Given the description of an element on the screen output the (x, y) to click on. 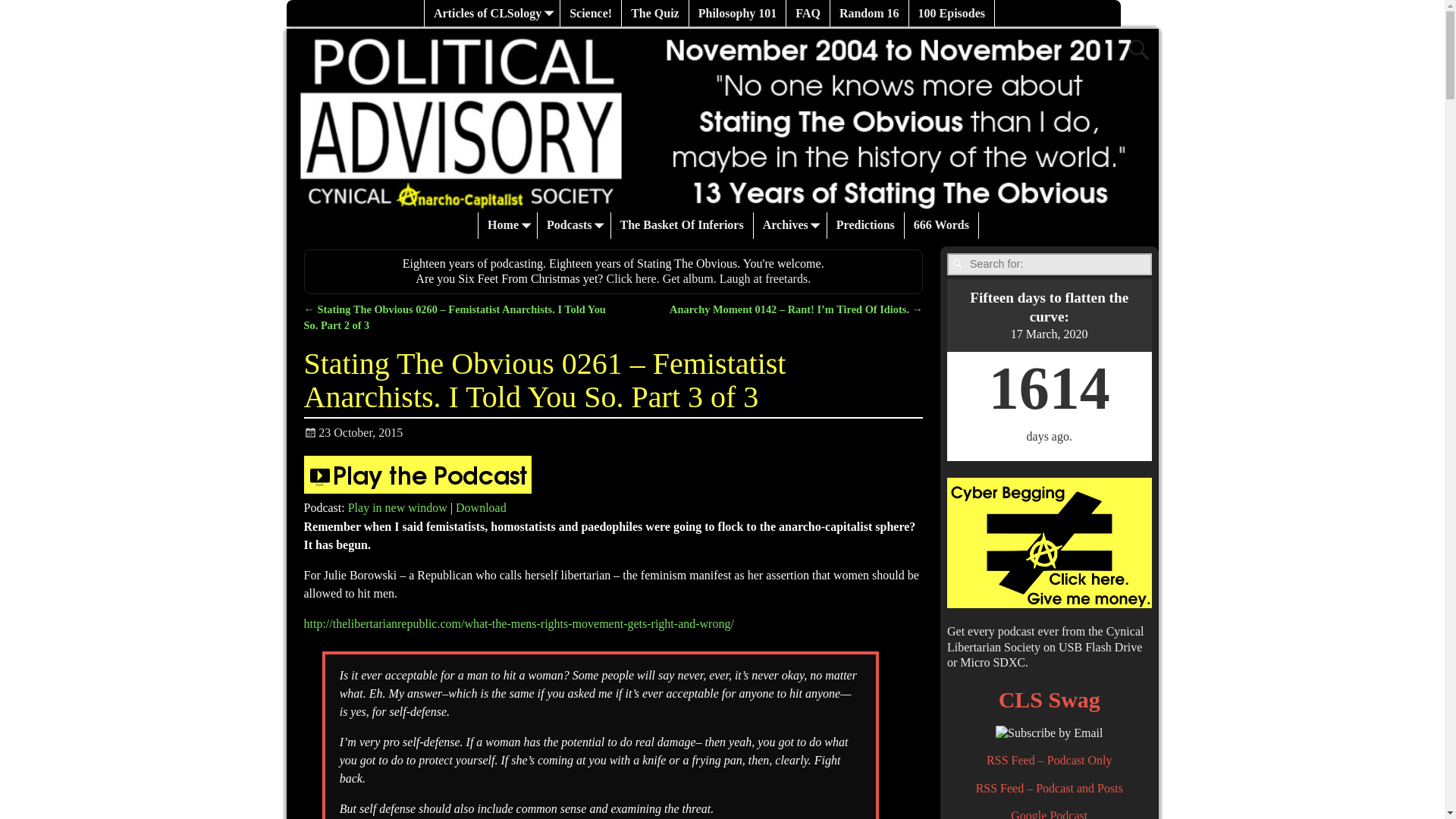
Play (416, 474)
Random 16 (868, 13)
Download (480, 507)
The Quiz (654, 13)
666 Words (941, 225)
06:51 (352, 431)
FAQ (807, 13)
Podcasts (574, 225)
Play (416, 489)
Philosophy 101 (737, 13)
